Given the description of an element on the screen output the (x, y) to click on. 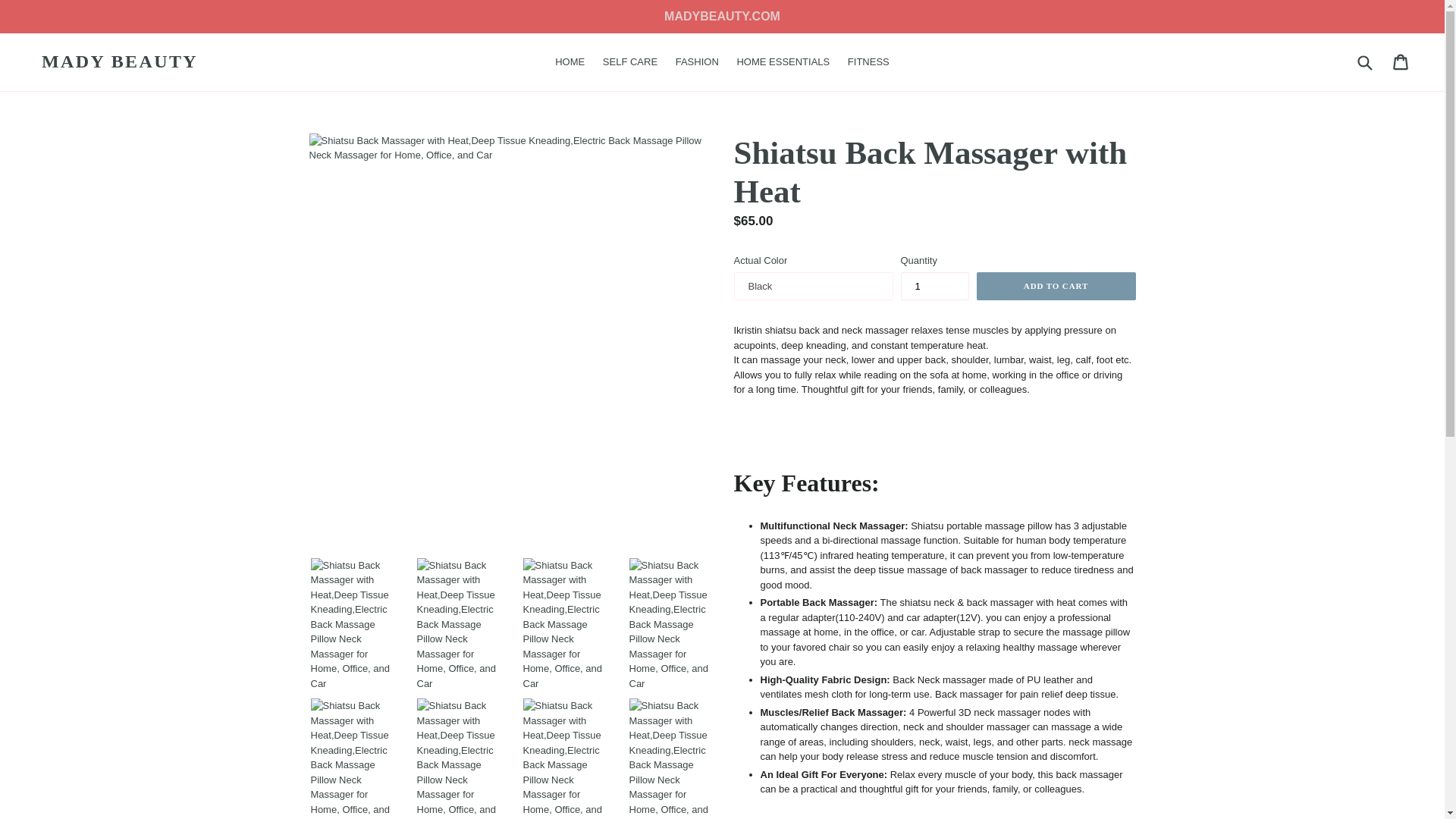
SELF CARE (630, 62)
HOME (569, 62)
FITNESS (868, 62)
Submit (1401, 62)
1 (1364, 61)
FASHION (935, 286)
MADY BEAUTY (697, 62)
HOME ESSENTIALS (120, 61)
ADD TO CART (783, 62)
